Given the description of an element on the screen output the (x, y) to click on. 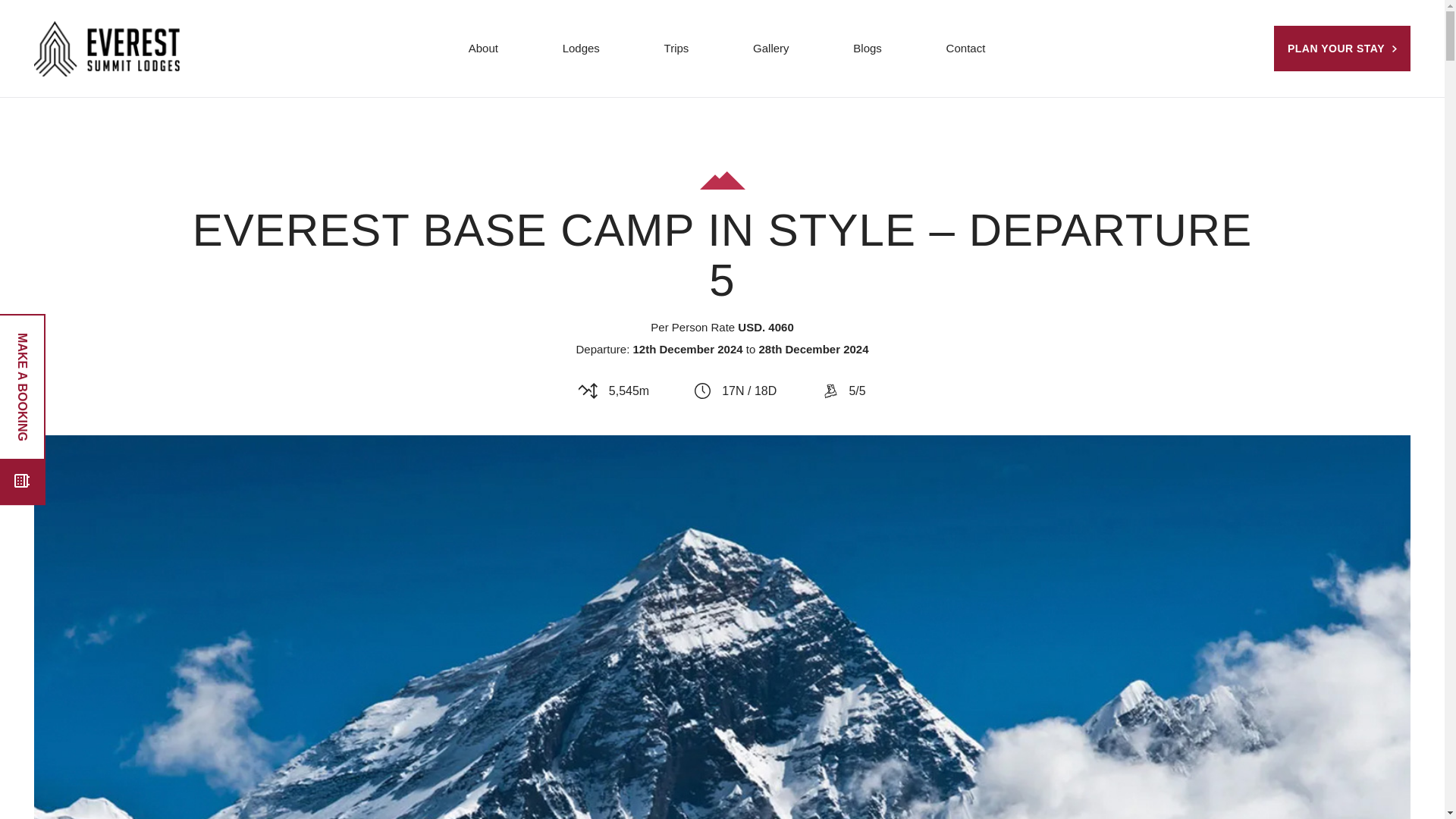
PLAN YOUR STAY (1342, 48)
